Given the description of an element on the screen output the (x, y) to click on. 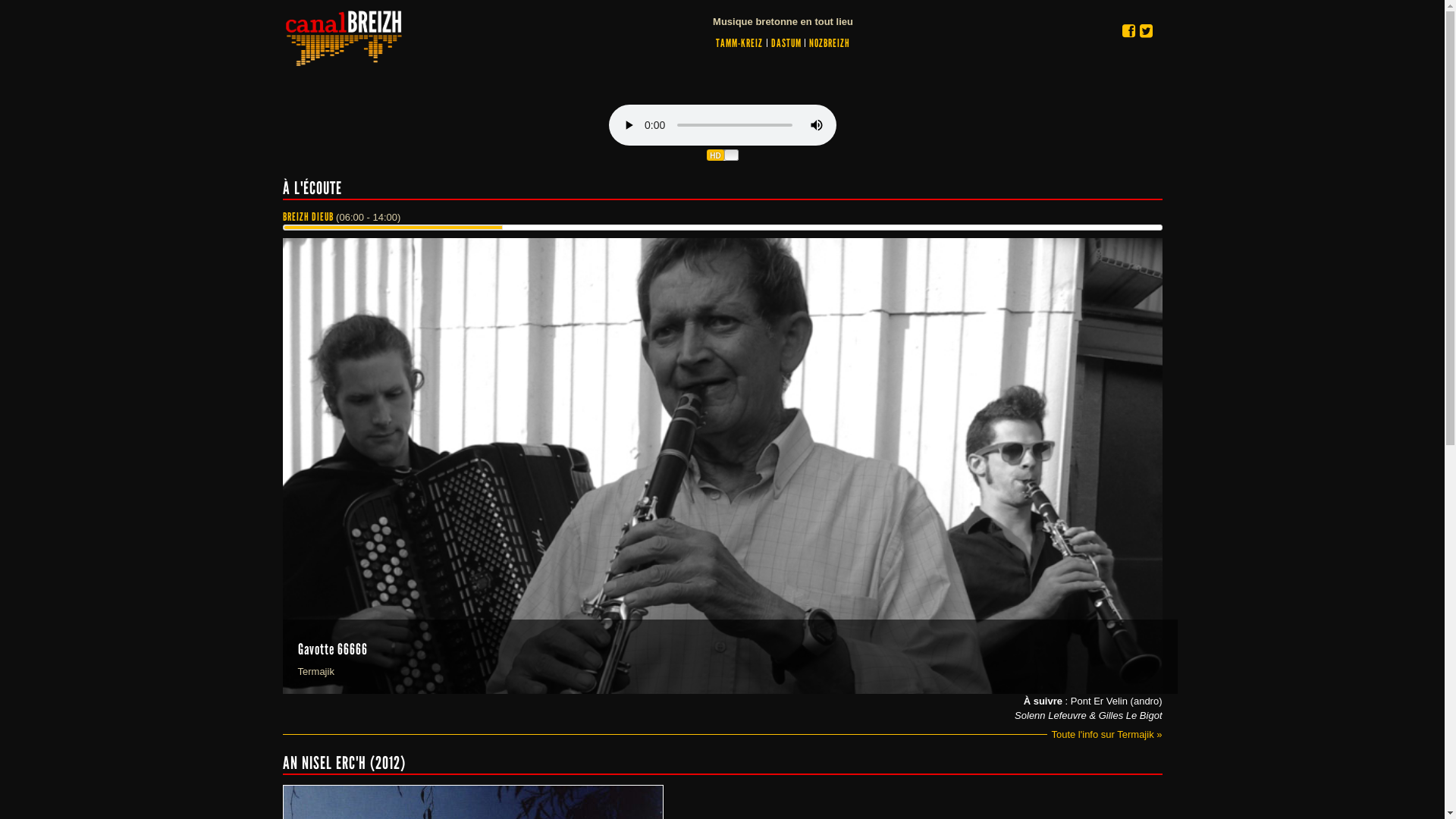
DASTUM Element type: text (785, 42)
TAMM-KREIZ Element type: text (738, 42)
NOZBREIZH Element type: text (829, 42)
LE TEXTE Element type: text (342, 36)
